Given the description of an element on the screen output the (x, y) to click on. 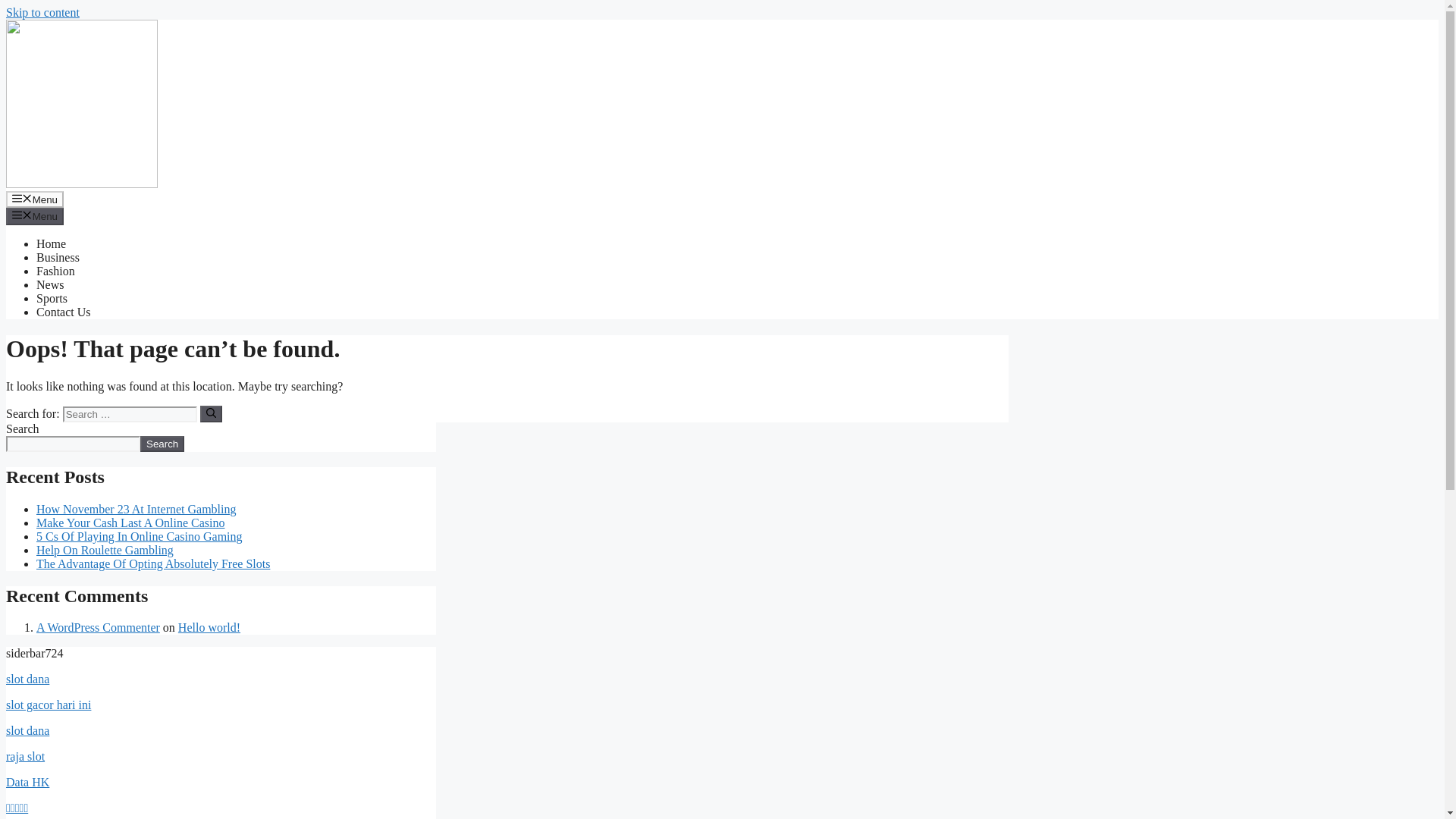
5 Cs Of Playing In Online Casino Gaming (139, 535)
Help On Roulette Gambling (104, 549)
The Advantage Of Opting Absolutely Free Slots (152, 563)
slot dana (27, 678)
Business (58, 256)
Data HK (27, 781)
Contact Us (63, 311)
slot dana (27, 730)
News (50, 284)
Search for: (129, 414)
Make Your Cash Last A Online Casino (130, 522)
How November 23 At Internet Gambling (135, 508)
raja slot (25, 756)
Search (161, 443)
Skip to content (42, 11)
